Given the description of an element on the screen output the (x, y) to click on. 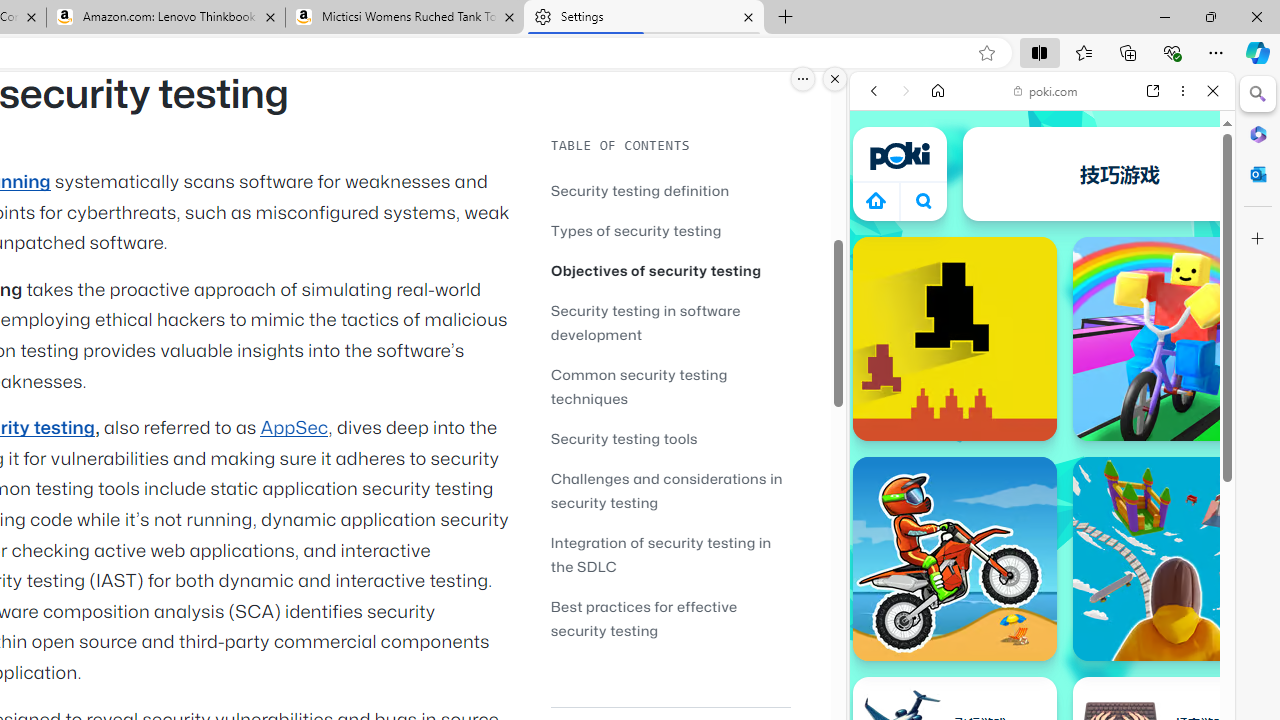
poki.com (1046, 90)
Sports Games (1042, 666)
Security testing in software development (670, 322)
Favorites (1083, 52)
Challenges and considerations in security testing (666, 490)
Types of security testing (635, 230)
Show More Car Games (1164, 472)
Sports Games (1042, 665)
Security testing tools (623, 438)
Web scope (882, 180)
Class: B_5ykBA46kDOxiz_R9wm (923, 200)
SimplyUp.io (1174, 558)
Settings and more (Alt+F) (1215, 52)
Show More Shooting Games (1164, 521)
Search Filter, IMAGES (939, 228)
